Given the description of an element on the screen output the (x, y) to click on. 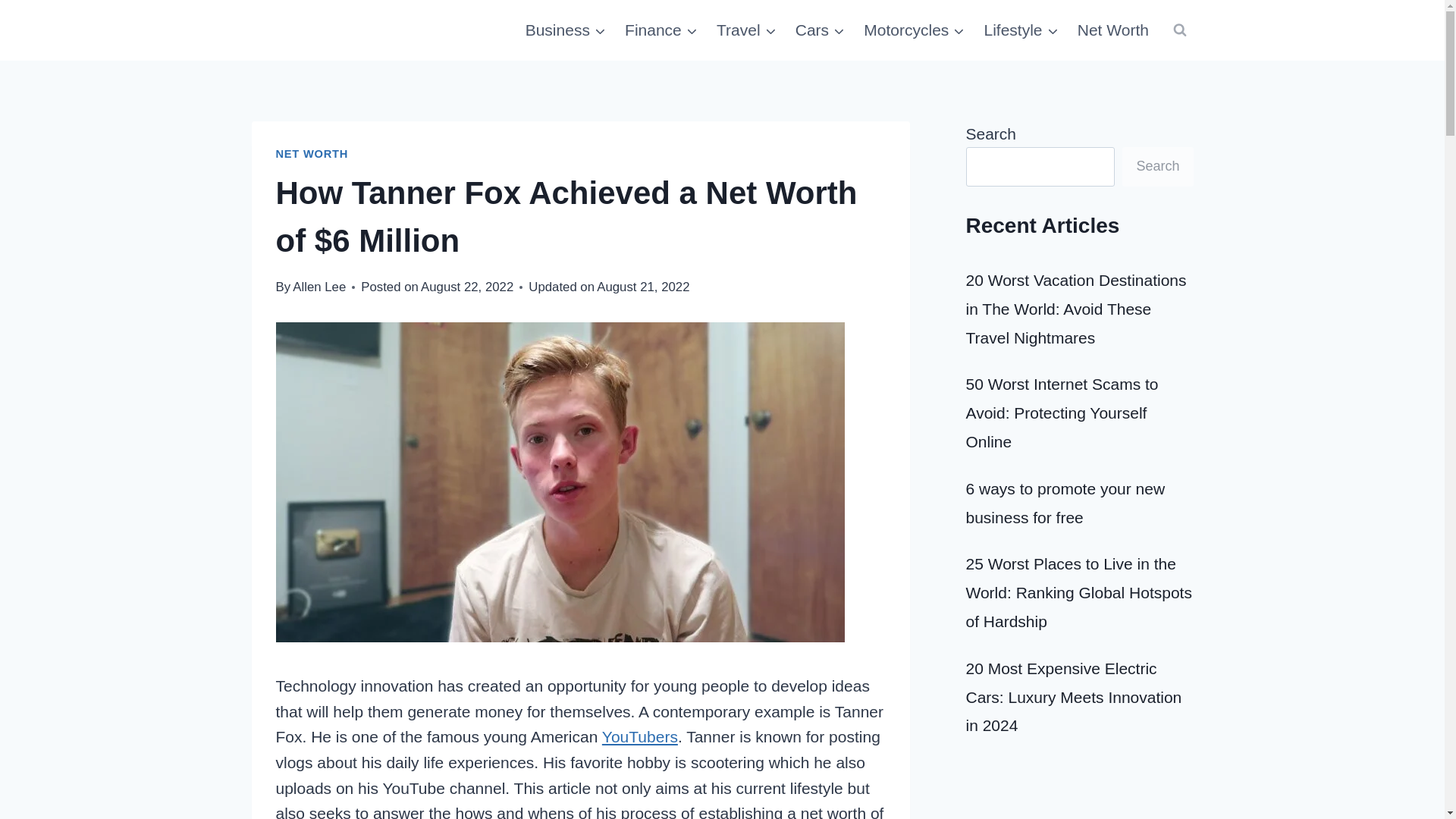
Cars (820, 30)
Finance (661, 30)
Business (564, 30)
Travel (746, 30)
